Given the description of an element on the screen output the (x, y) to click on. 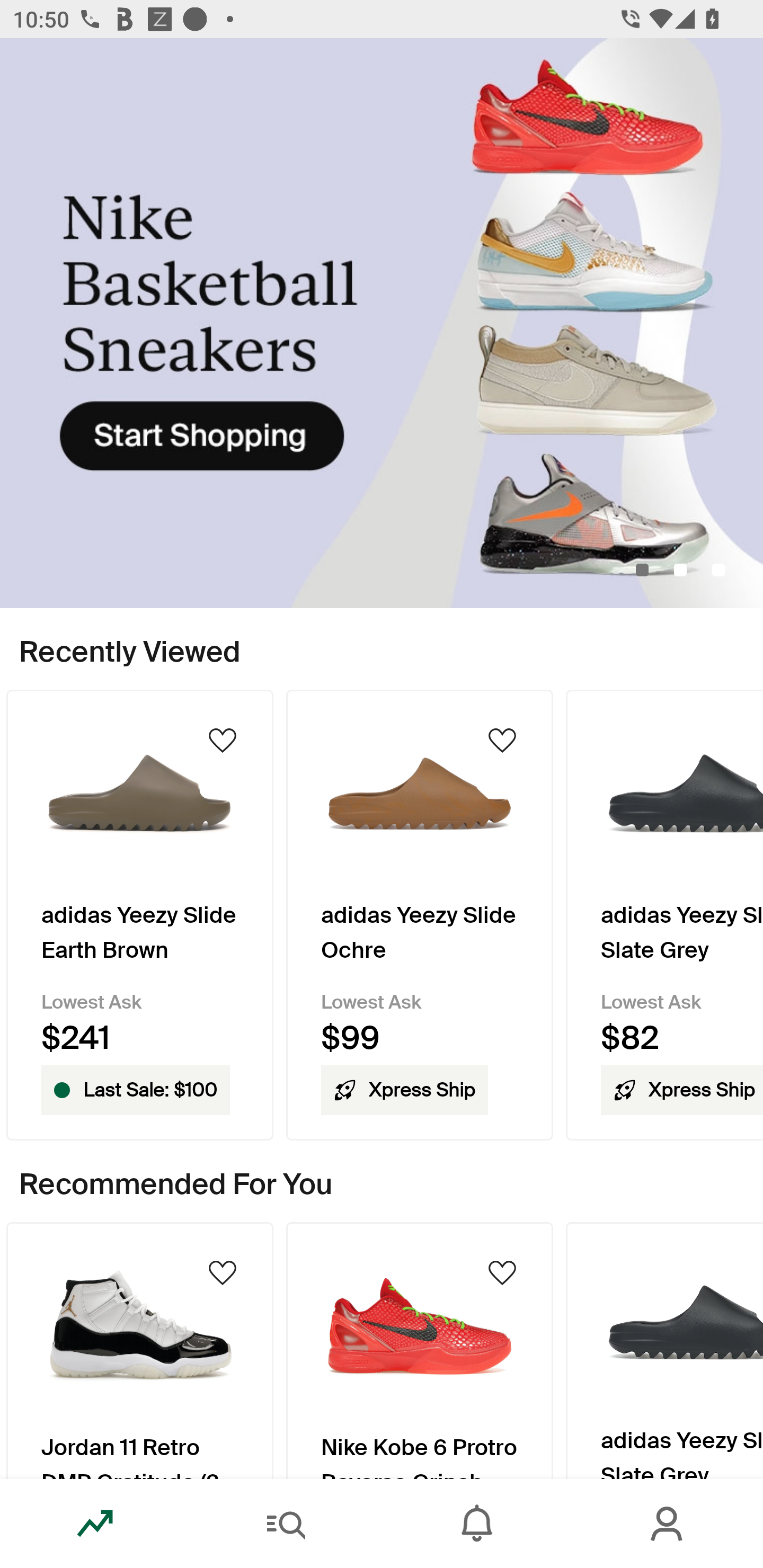
NikeBasketballSprint_Followup_Primary_Mobile.jpg (381, 322)
Product Image Jordan 11 Retro DMP Gratitude (2023) (139, 1349)
Product Image Nike Kobe 6 Protro Reverse Grinch (419, 1349)
Product Image adidas Yeezy Slide Slate Grey (664, 1349)
Search (285, 1523)
Inbox (476, 1523)
Account (667, 1523)
